Given the description of an element on the screen output the (x, y) to click on. 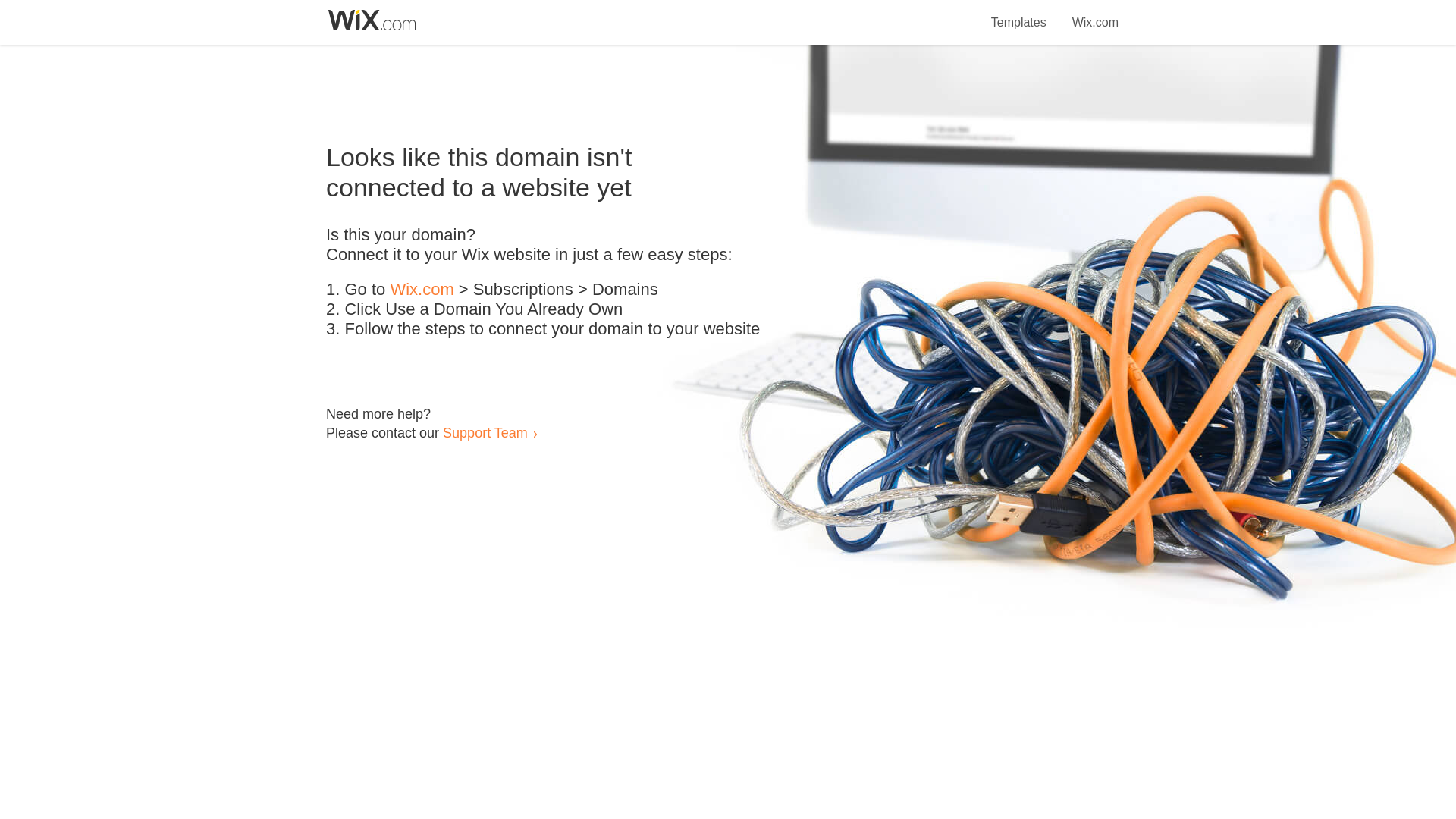
Templates (1018, 14)
Wix.com (1095, 14)
Wix.com (421, 289)
Support Team (484, 432)
